Given the description of an element on the screen output the (x, y) to click on. 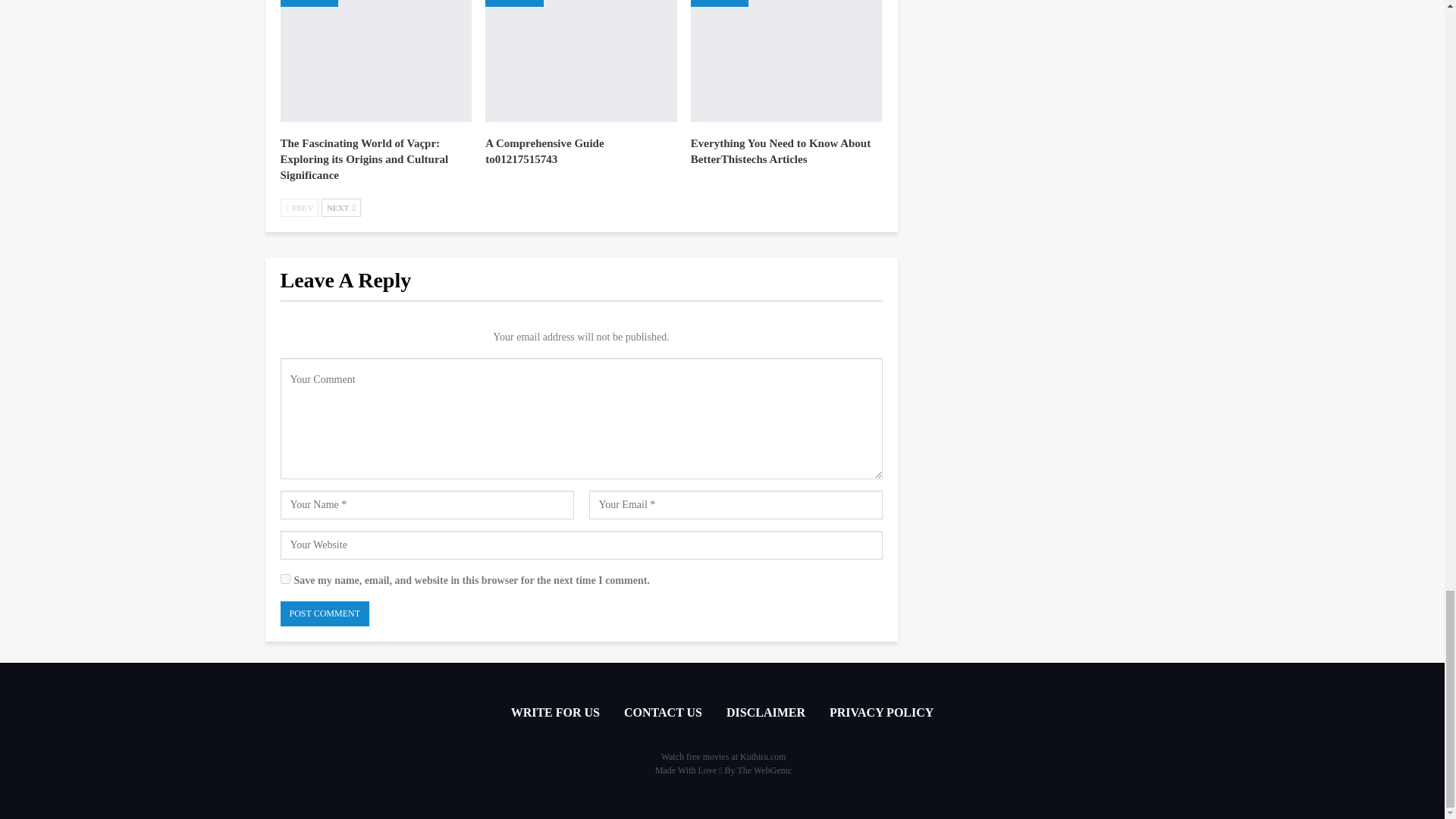
yes (285, 578)
A Comprehensive Guide to01217515743 (544, 151)
A Comprehensive Guide to01217515743 (580, 61)
Everything You Need to Know About BetterThistechs Articles (786, 61)
Post Comment (325, 613)
Everything You Need to Know About BetterThistechs Articles (780, 151)
